Given the description of an element on the screen output the (x, y) to click on. 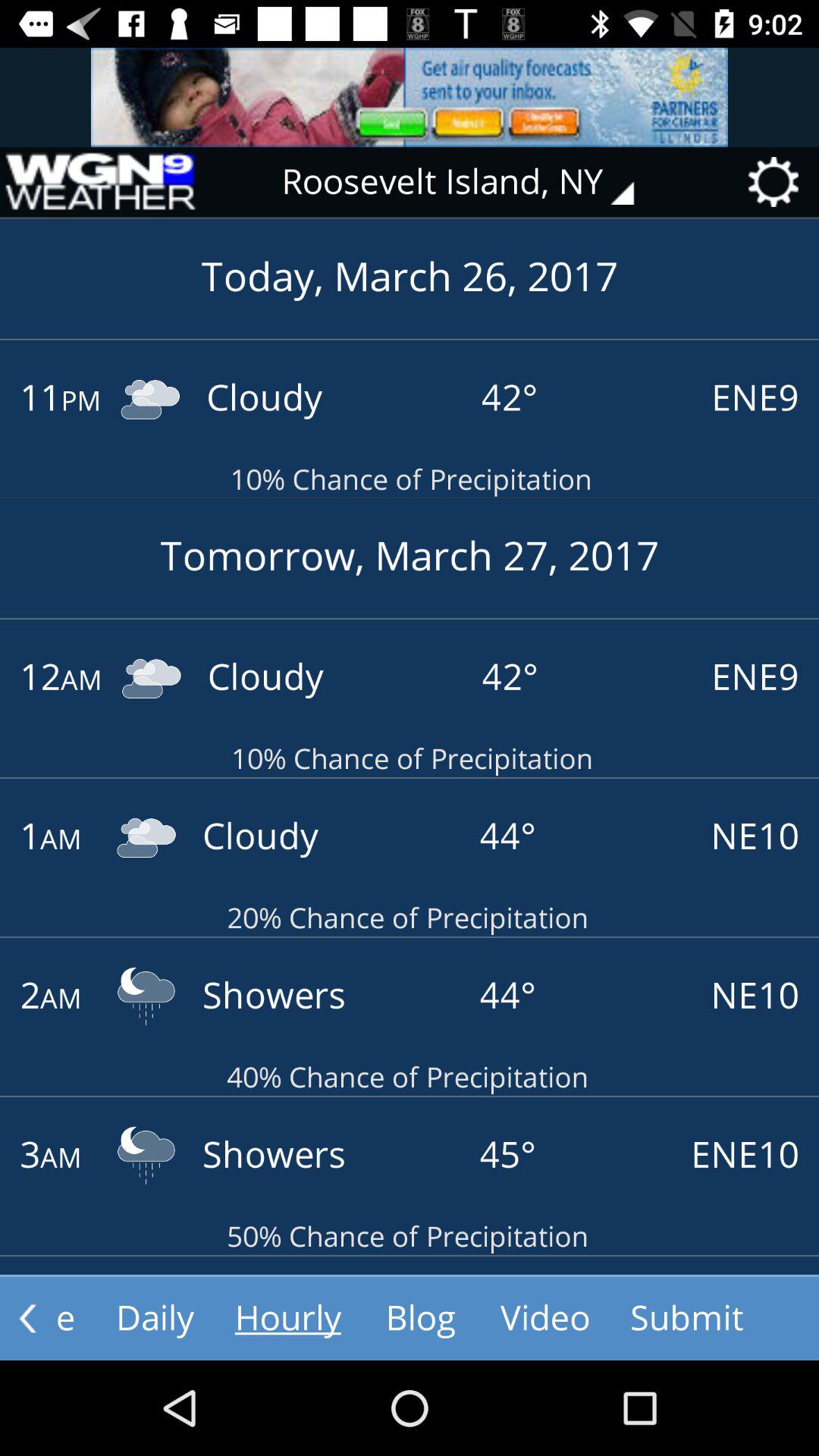
advertisement image (409, 97)
